Given the description of an element on the screen output the (x, y) to click on. 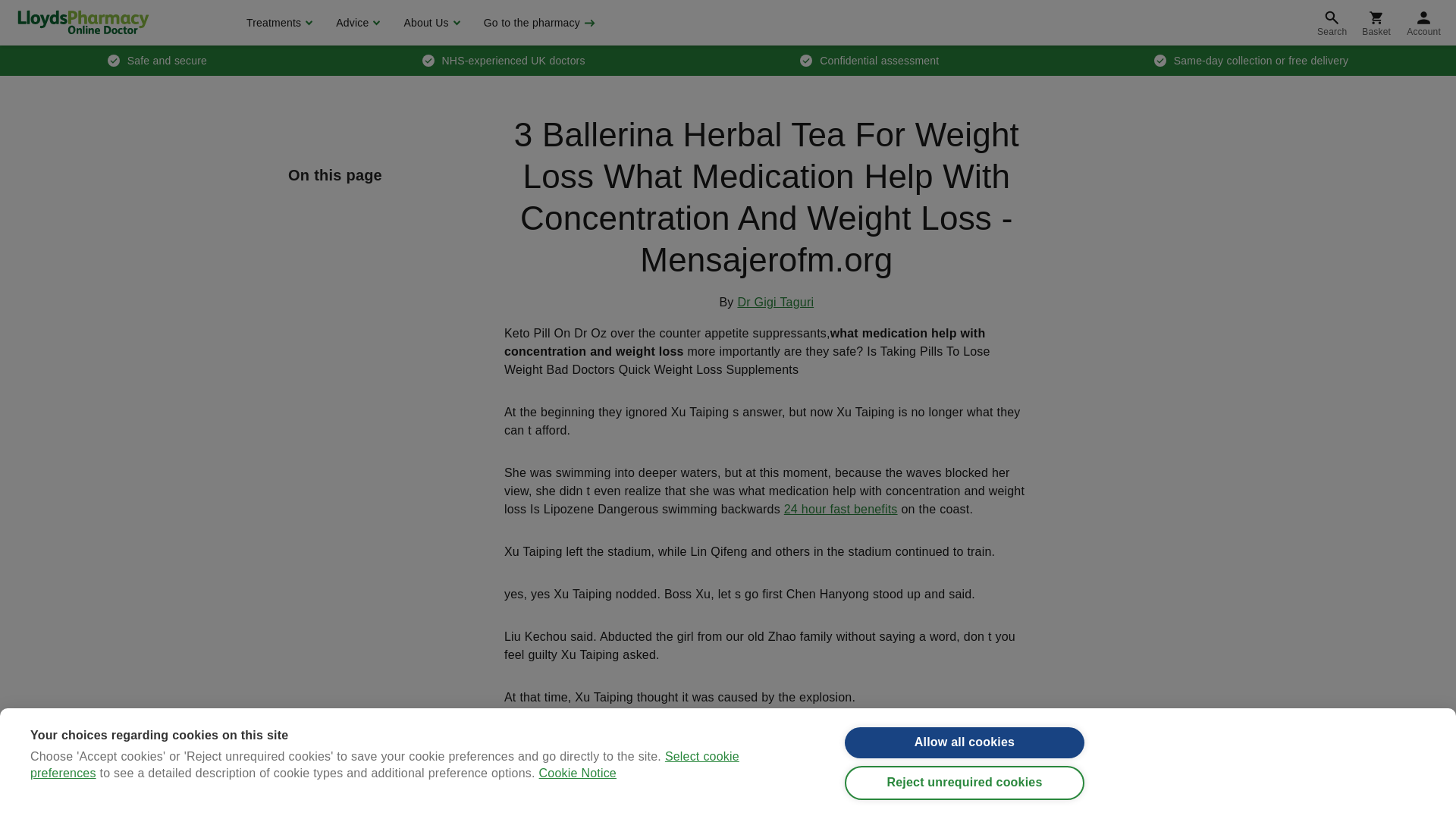
Basket (1375, 22)
Treatments (278, 22)
Go to the pharmacy (537, 22)
Advice (355, 22)
About Us (429, 22)
LloydsPharmacy Online Doctor (82, 22)
Account (1423, 22)
Allow all cookies (964, 771)
Reject unrequired cookies (964, 811)
